Given the description of an element on the screen output the (x, y) to click on. 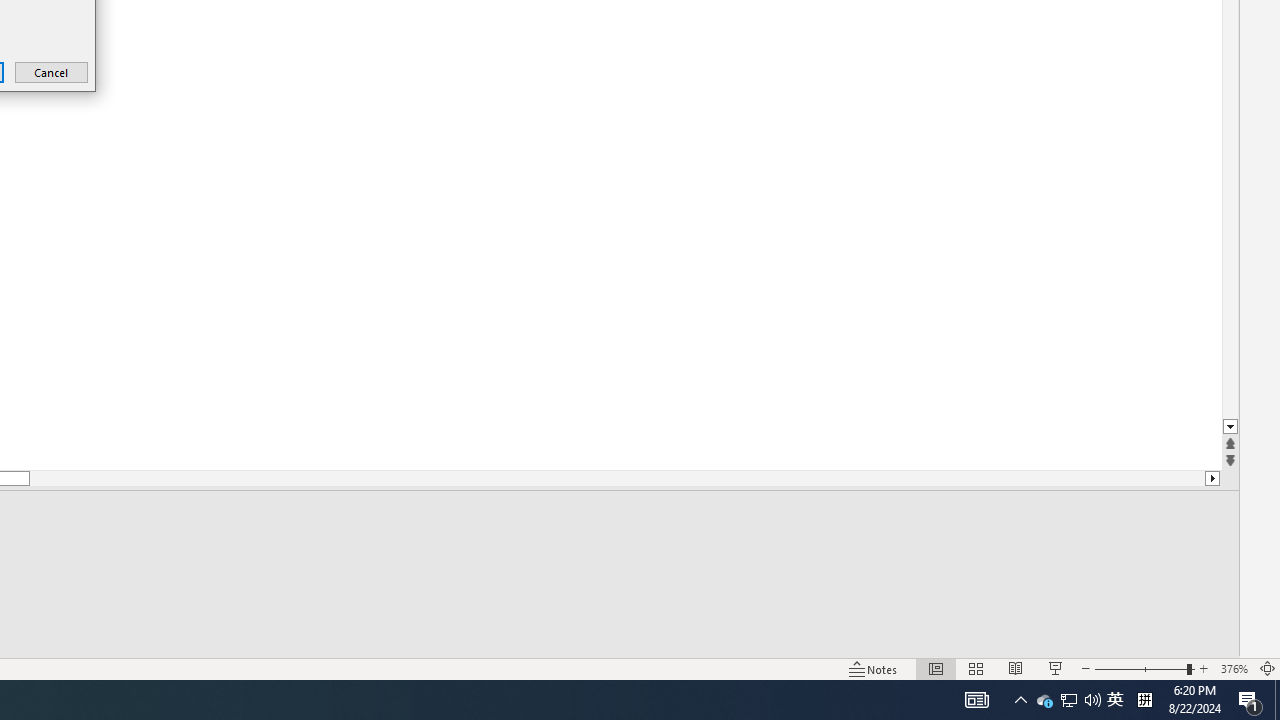
Line down (1230, 427)
Notification Chevron (1020, 699)
Zoom 376% (1234, 668)
